Given the description of an element on the screen output the (x, y) to click on. 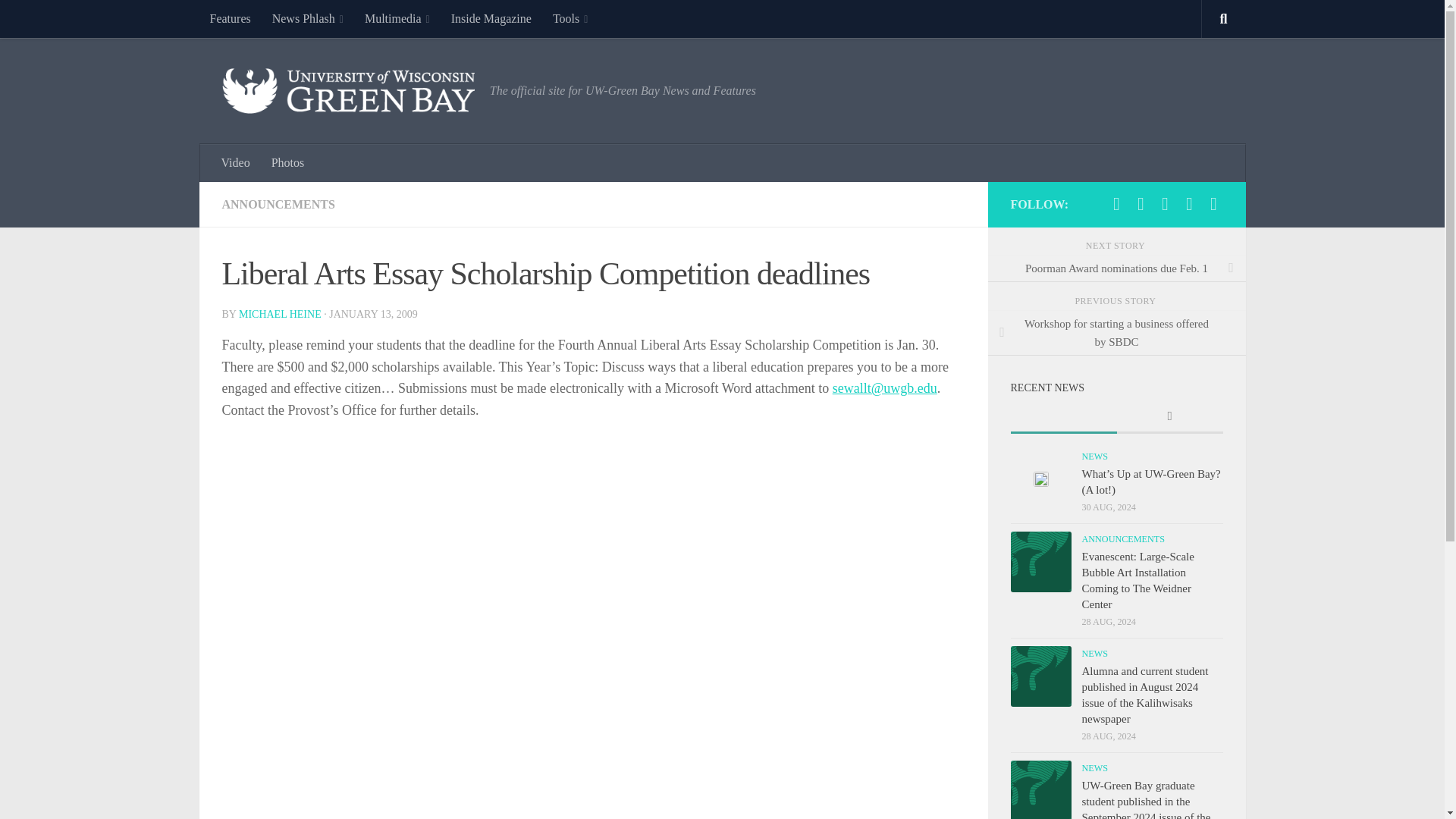
Features (229, 18)
Tools (569, 18)
Photos (287, 162)
Recent Posts (1063, 417)
Flickr (1164, 203)
News Phlash (307, 18)
MICHAEL HEINE (279, 314)
Multimedia (397, 18)
YouTube (1188, 203)
Twitter (1140, 203)
